Given the description of an element on the screen output the (x, y) to click on. 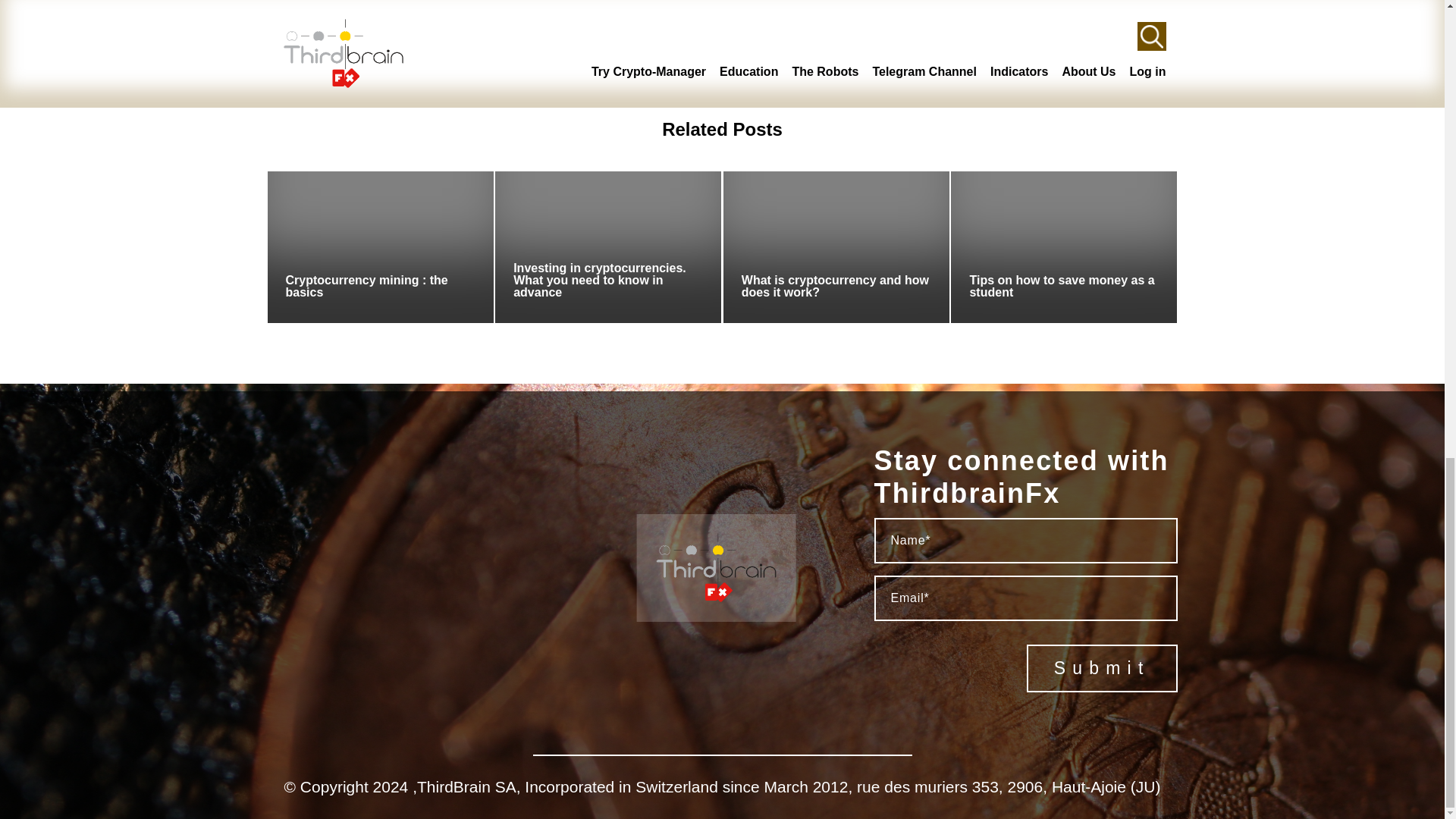
Submit (1101, 668)
portfolio management (1075, 66)
Submit (1101, 668)
trading (1064, 81)
Investment (979, 66)
trading (1158, 66)
investment (839, 81)
portfolio managementMake pri (957, 81)
economy (779, 81)
Vertical analysis (1133, 81)
economy (919, 66)
